Given the description of an element on the screen output the (x, y) to click on. 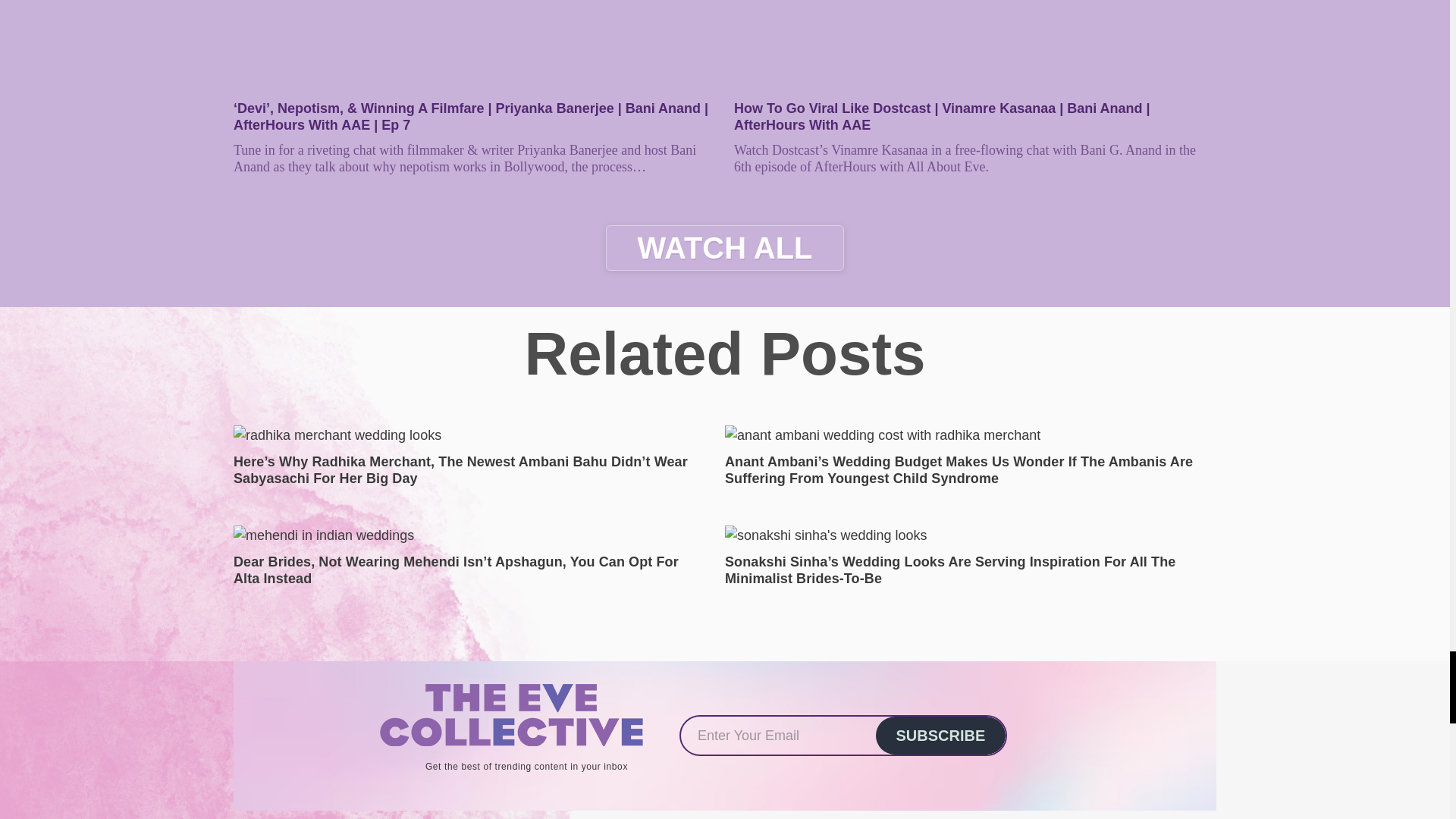
Subscribe (941, 735)
